Given the description of an element on the screen output the (x, y) to click on. 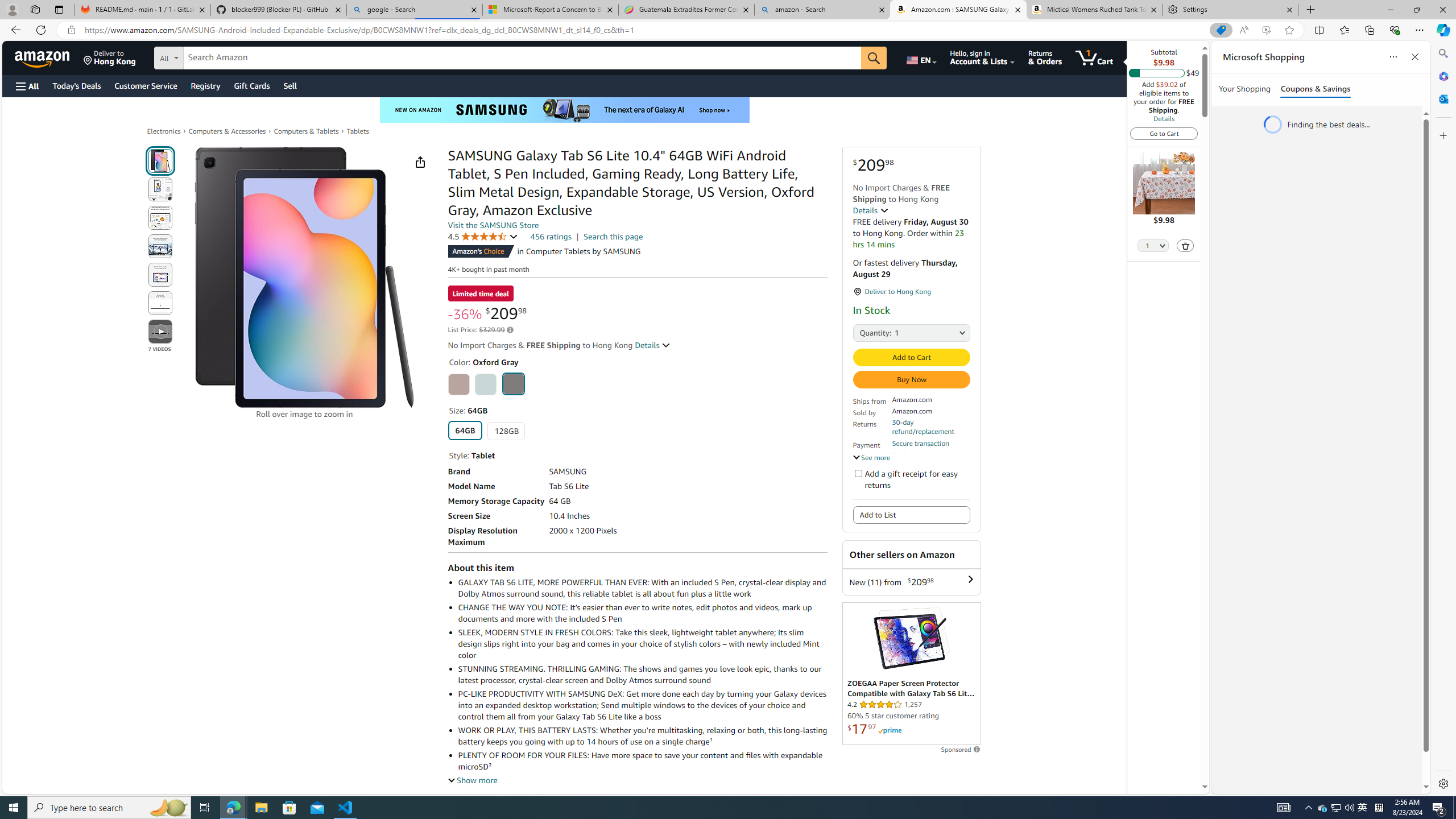
Choose a language for shopping. (920, 57)
Oxford Gray (513, 383)
Computers & Accessories (226, 131)
Add a gift receipt for easy returns (857, 473)
Visit the SAMSUNG Store (492, 225)
Today's Deals (76, 85)
